Given the description of an element on the screen output the (x, y) to click on. 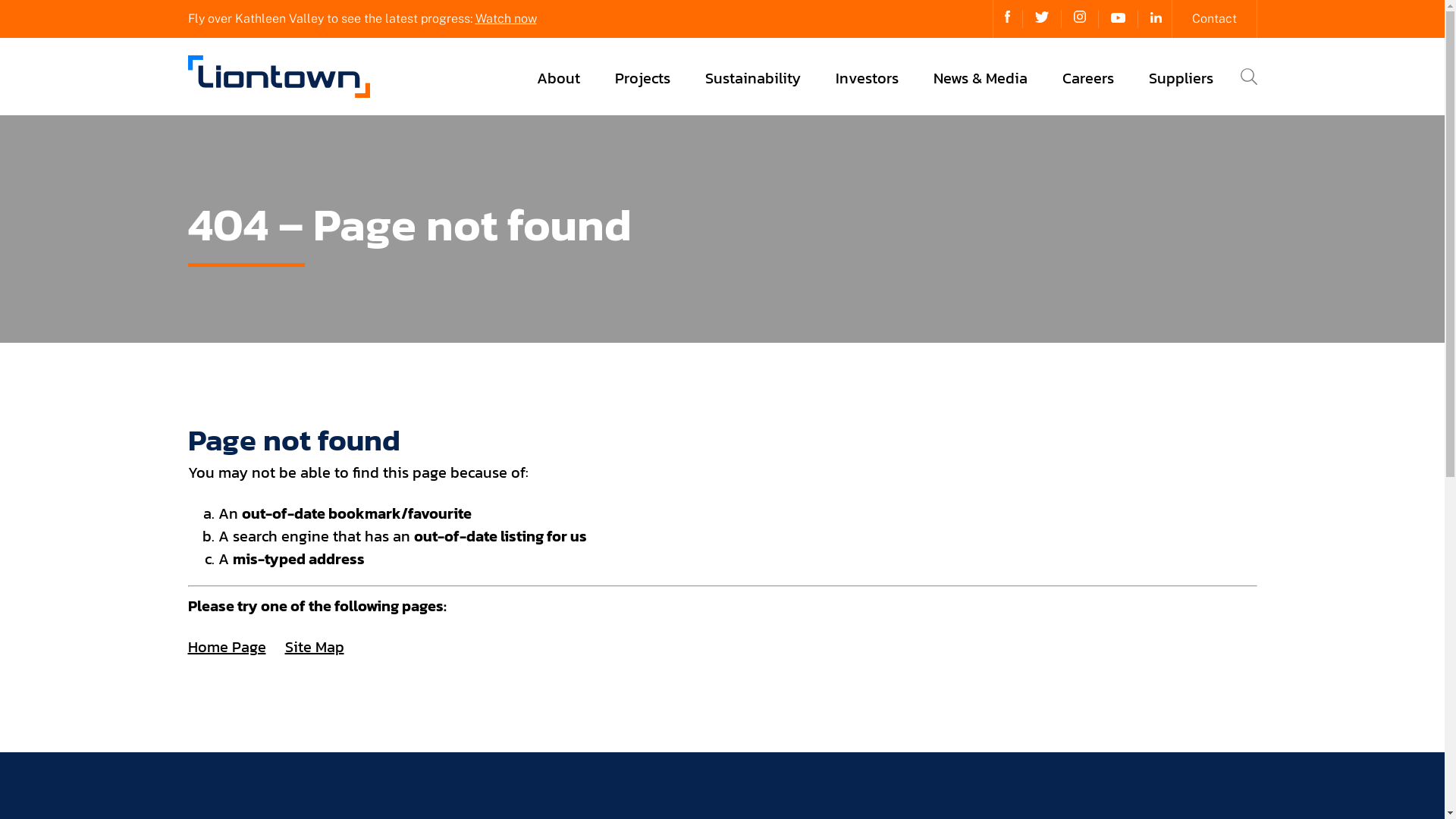
Sustainability Element type: text (752, 76)
Site Map Element type: text (314, 646)
Home Page Element type: text (227, 646)
Contact Element type: text (1214, 18)
Suppliers Element type: text (1180, 76)
Watch now Element type: text (505, 18)
Investors Element type: text (866, 76)
About Element type: text (558, 76)
Careers Element type: text (1087, 76)
Projects Element type: text (641, 76)
News & Media Element type: text (979, 76)
